Given the description of an element on the screen output the (x, y) to click on. 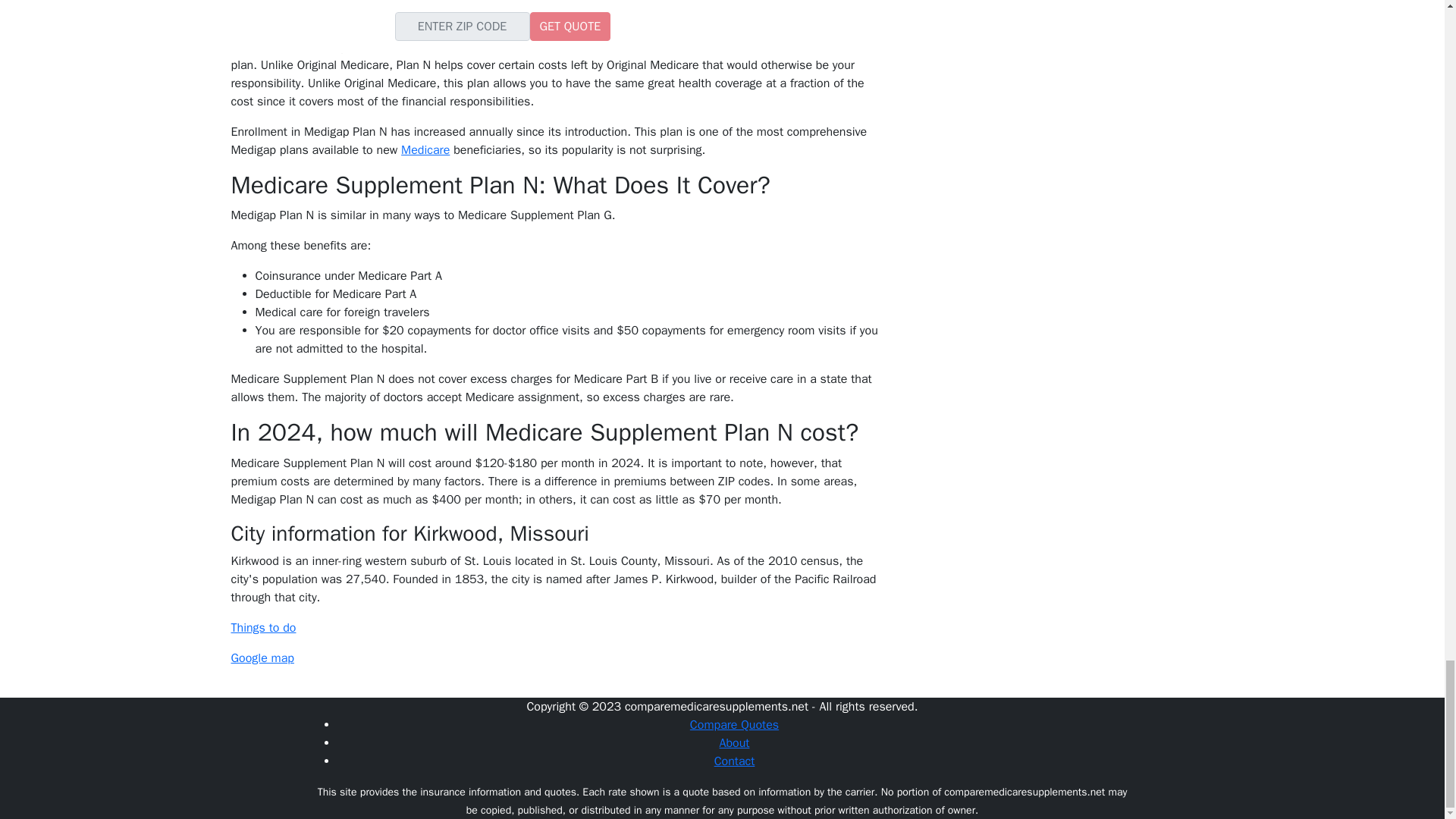
Things to do (262, 627)
Google map (262, 657)
Medicare (425, 150)
Medicare Supplement Plan (509, 46)
